Given the description of an element on the screen output the (x, y) to click on. 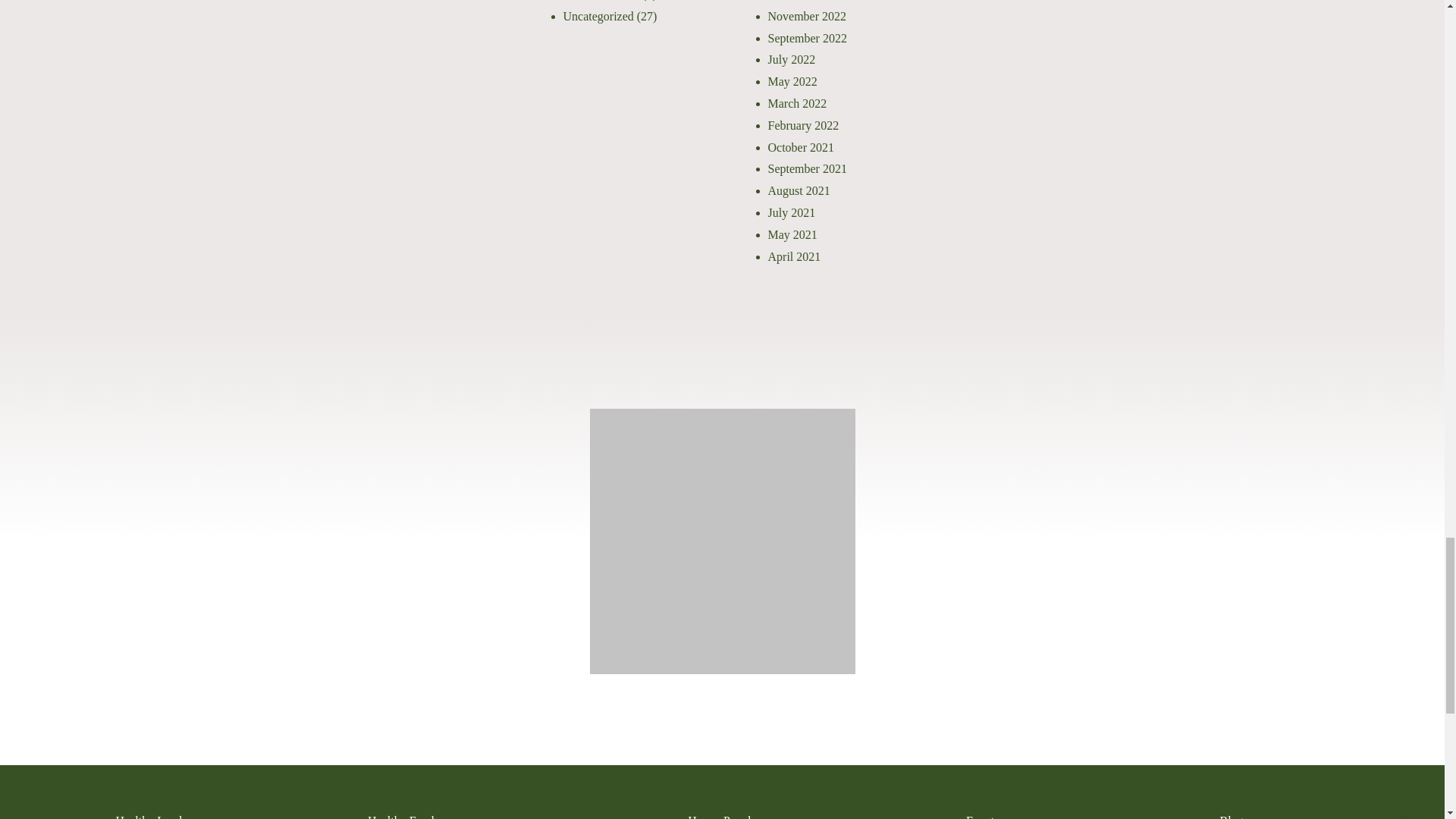
May 2022 (791, 81)
February 2022 (802, 124)
April 2021 (794, 256)
July 2021 (791, 212)
November 2022 (806, 15)
March 2022 (797, 103)
July 2022 (791, 59)
Uncategorized (597, 15)
August 2021 (798, 190)
May 2021 (791, 234)
October 2021 (800, 146)
September 2021 (806, 168)
September 2022 (806, 38)
